Given the description of an element on the screen output the (x, y) to click on. 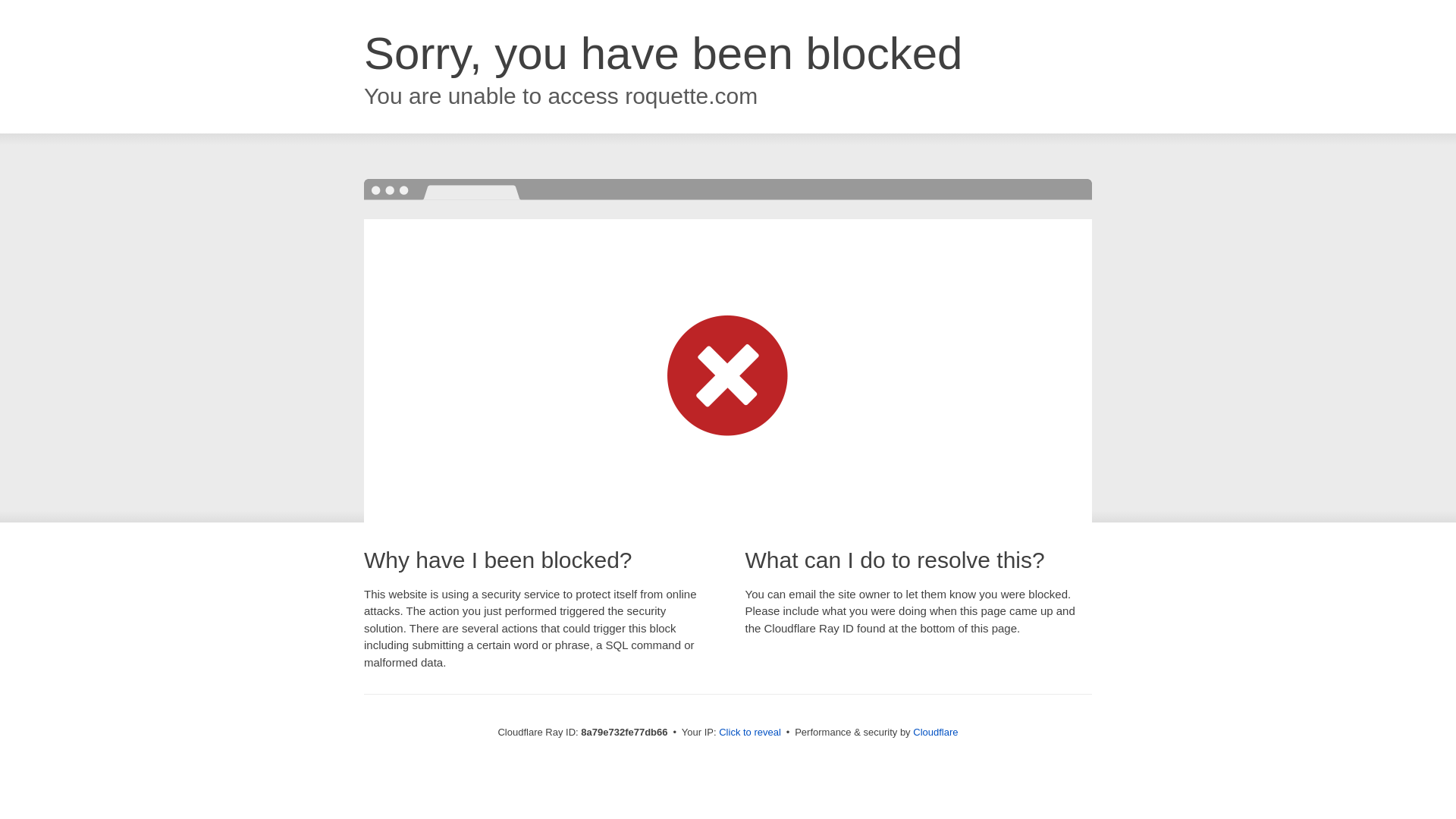
Click to reveal (749, 732)
Cloudflare (935, 731)
